Given the description of an element on the screen output the (x, y) to click on. 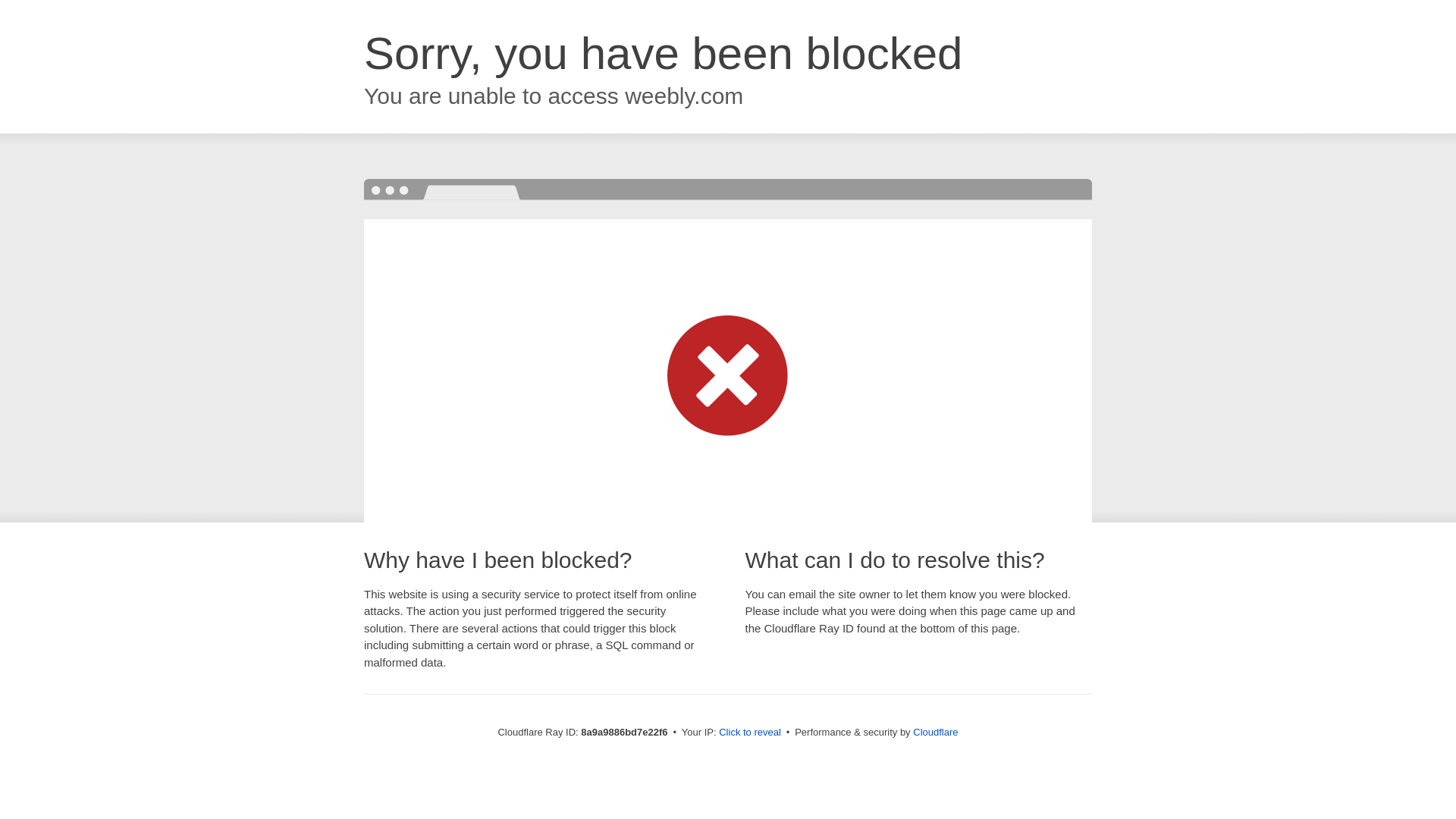
Click to reveal (749, 732)
Cloudflare (935, 731)
